Given the description of an element on the screen output the (x, y) to click on. 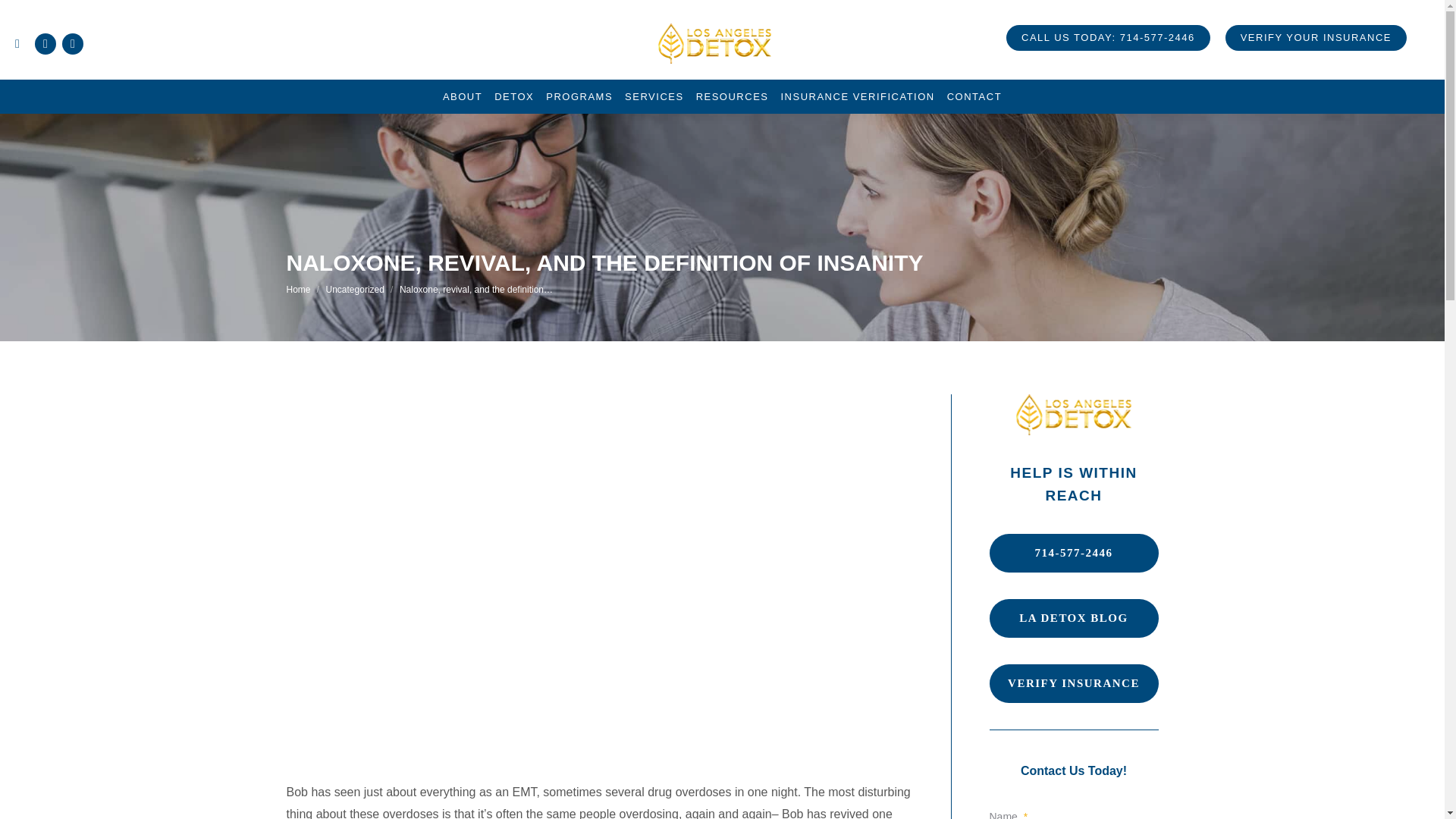
Facebook (45, 43)
naloxone, revival, and the definition of insanity (599, 742)
CALL US TODAY: 714-577-2446 (1107, 37)
Insurance Verification (1072, 683)
DETOX (514, 96)
PROGRAMS (579, 96)
ABOUT (461, 96)
Twitter (72, 43)
VERIFY YOUR INSURANCE (1315, 37)
Twitter (72, 43)
Facebook (45, 43)
Go! (22, 14)
